Given the description of an element on the screen output the (x, y) to click on. 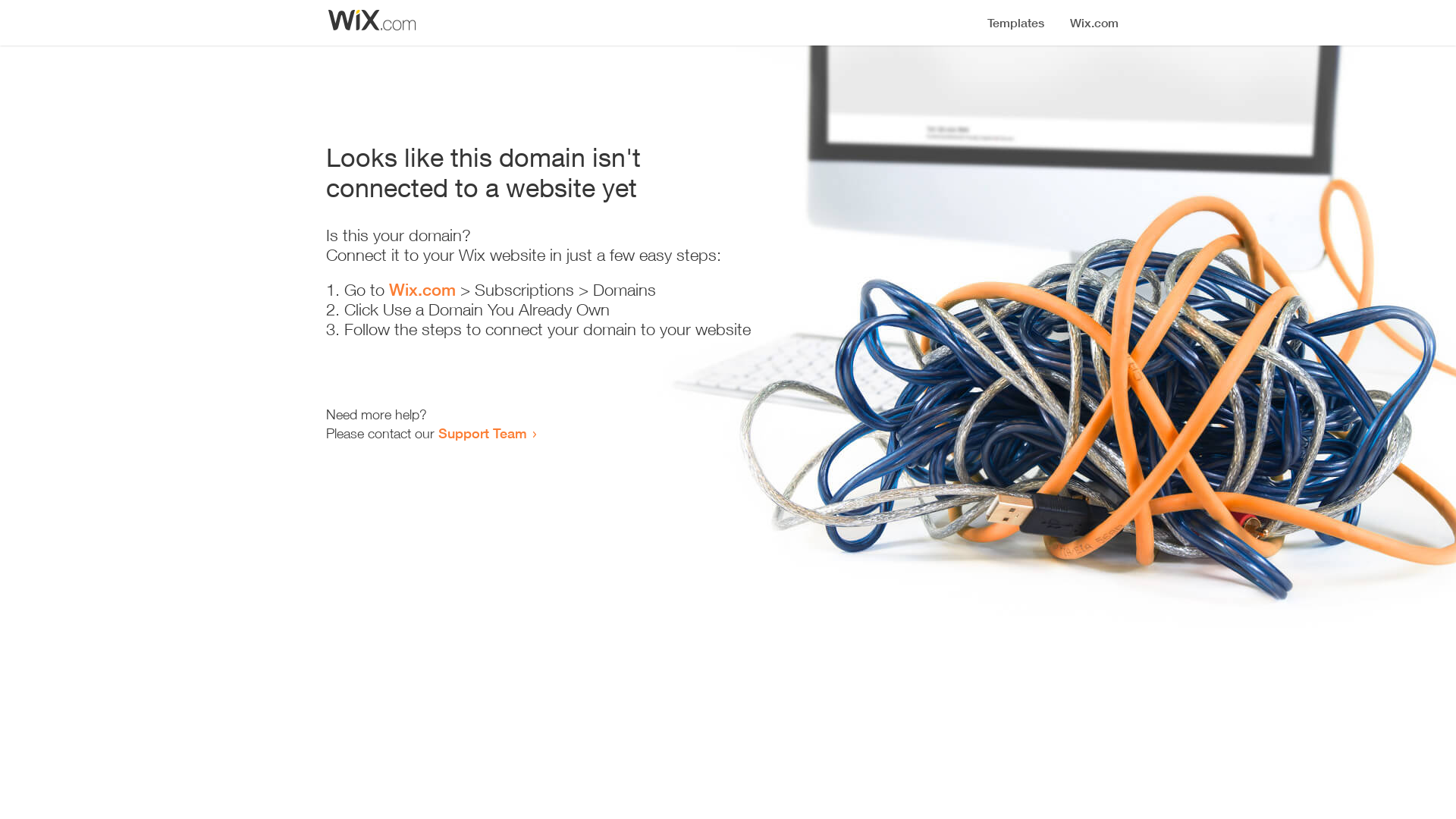
Wix.com Element type: text (422, 289)
Support Team Element type: text (482, 432)
